Given the description of an element on the screen output the (x, y) to click on. 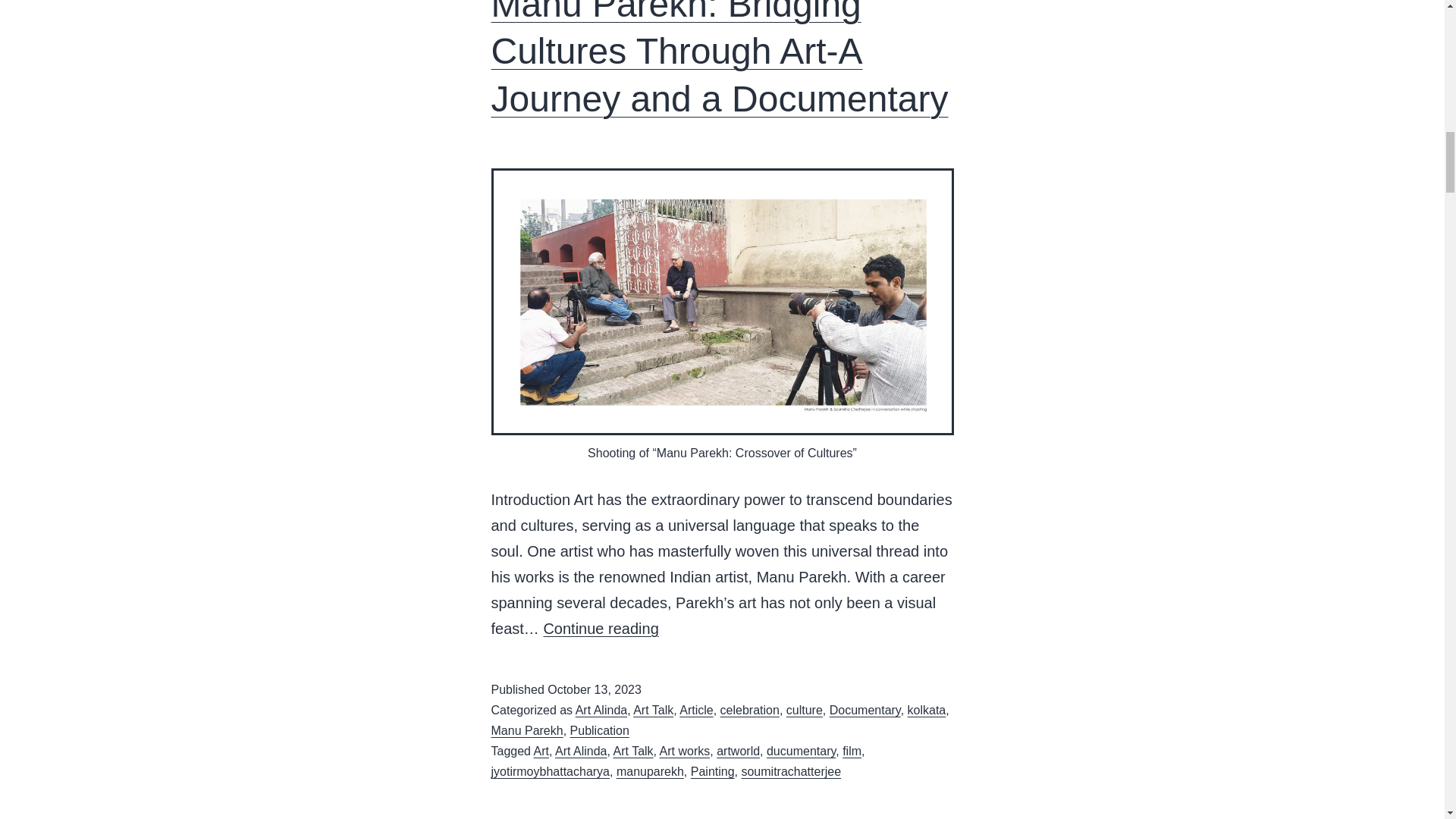
Article (696, 709)
kolkata (926, 709)
Publication (599, 730)
Continue reading (600, 628)
culture (804, 709)
Art Talk (652, 709)
Documentary (865, 709)
Manu Parekh (527, 730)
Art Alinda (601, 709)
